Given the description of an element on the screen output the (x, y) to click on. 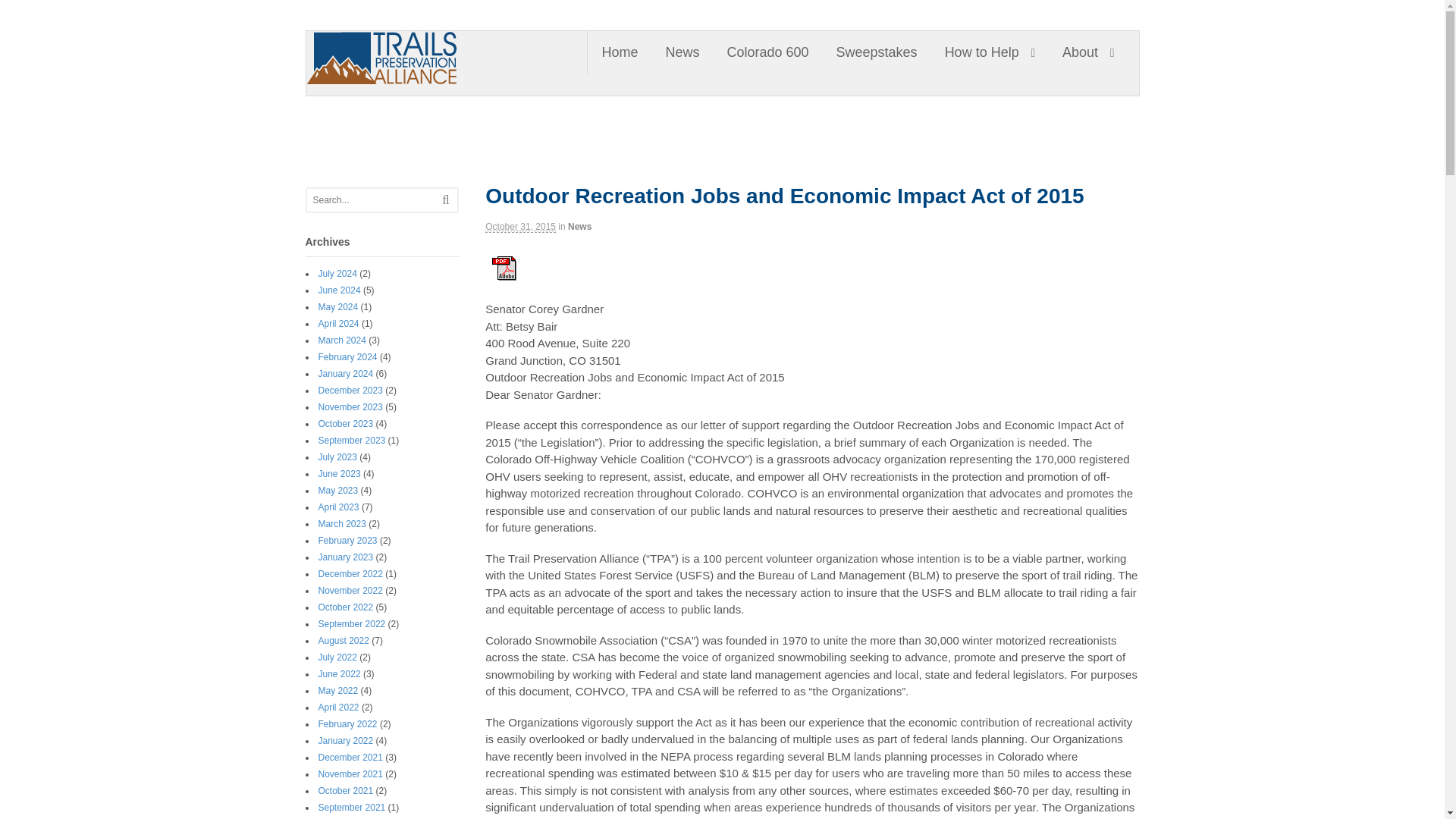
June 2024 (339, 290)
October 2023 (346, 423)
Sweepstakes (876, 53)
Home (619, 53)
January 2024 (346, 373)
July 2024 (337, 273)
Search... (375, 200)
Trails Preservation Alliance (502, 100)
July 2023 (337, 457)
March 2024 (342, 339)
February 2024 (347, 357)
About (1087, 53)
2015-10-31T07:00:00-0600 (520, 226)
View all items in News (579, 226)
How to Help (989, 53)
